Given the description of an element on the screen output the (x, y) to click on. 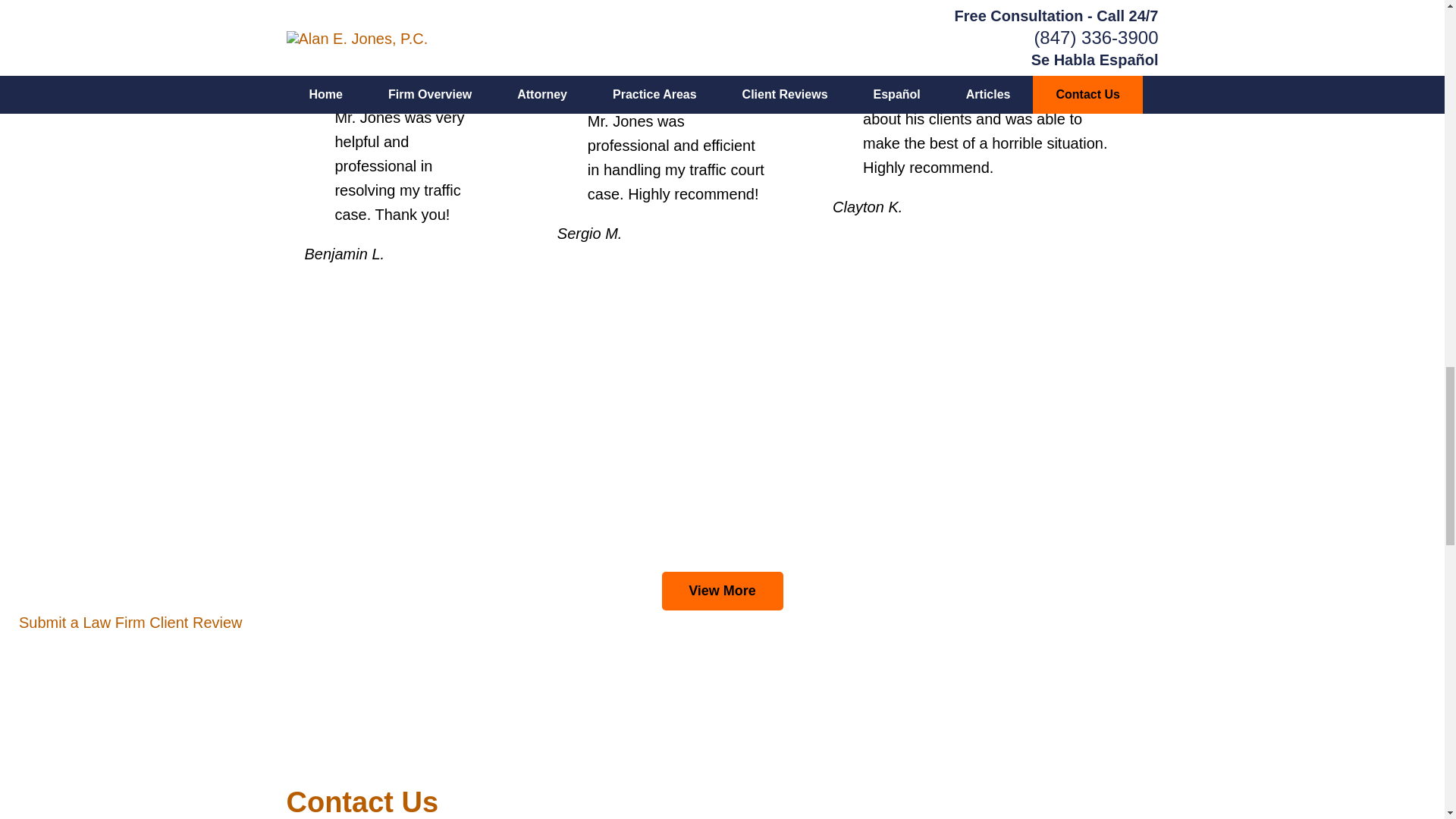
Contact Us (362, 802)
Submit a Law Firm Client Review (130, 622)
View More (722, 590)
